Given the description of an element on the screen output the (x, y) to click on. 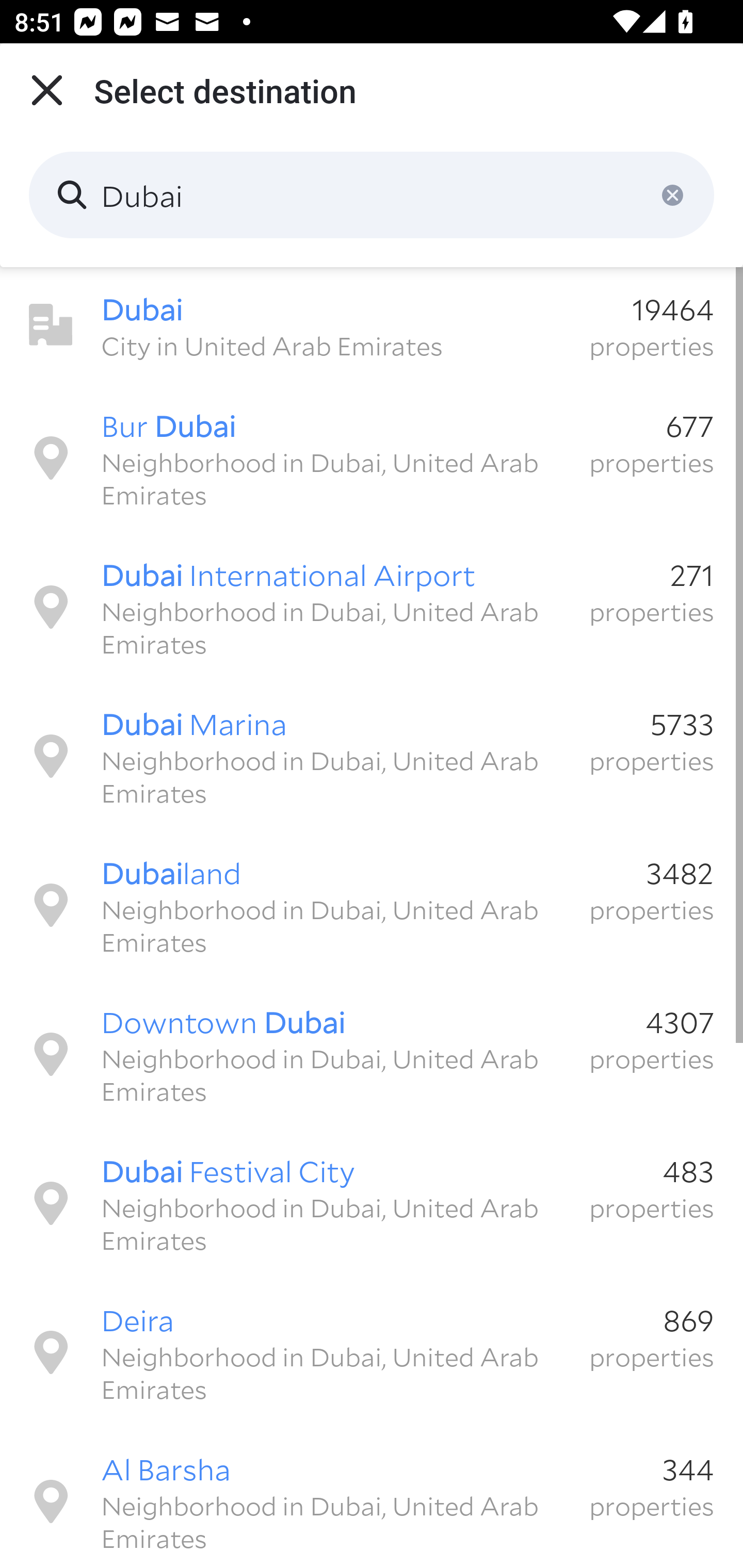
Dubai (371, 195)
